Given the description of an element on the screen output the (x, y) to click on. 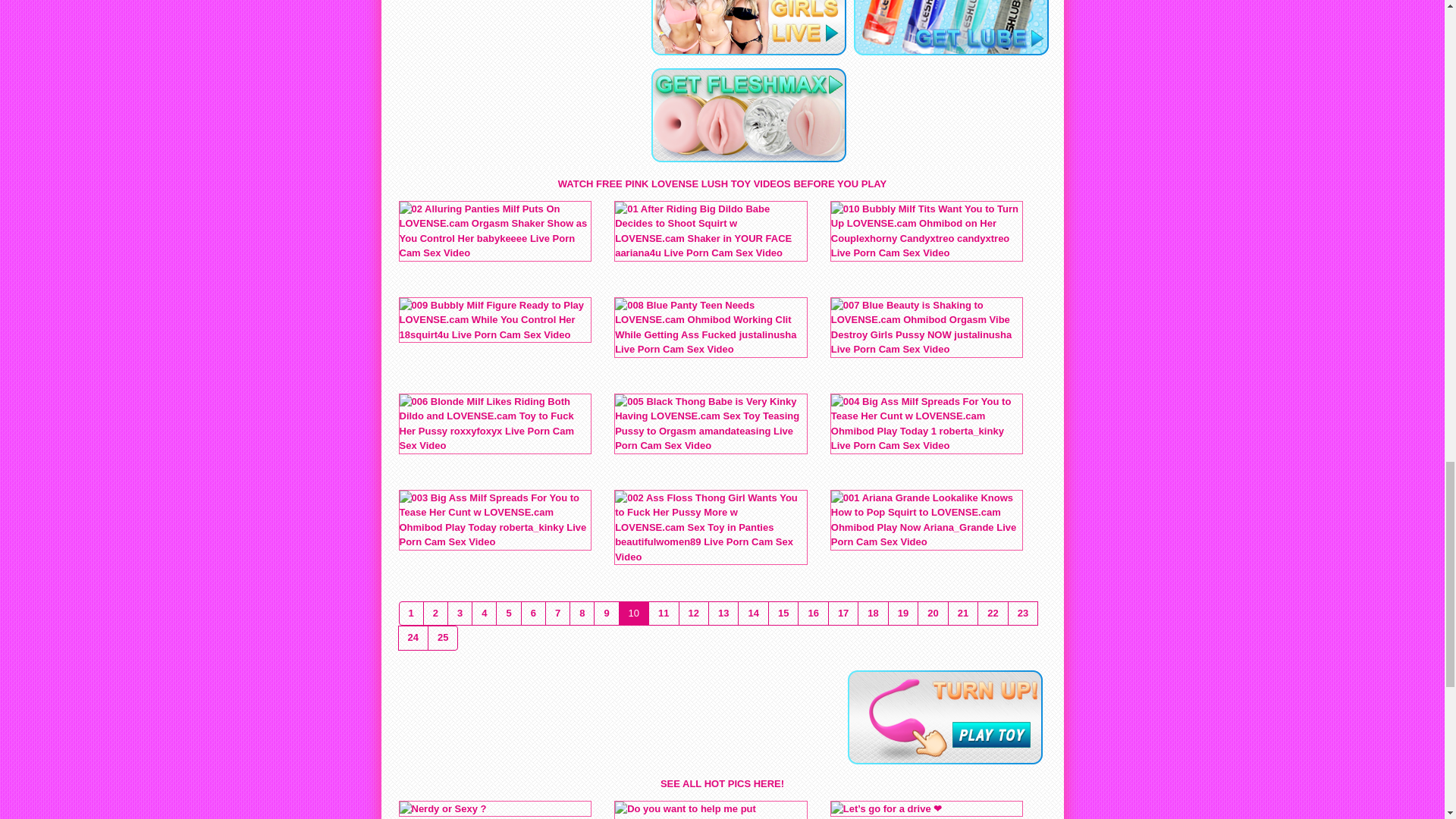
WATCH FREE PINK LOVENSE LUSH TOY VIDEOS BEFORE YOU PLAY (721, 183)
